Given the description of an element on the screen output the (x, y) to click on. 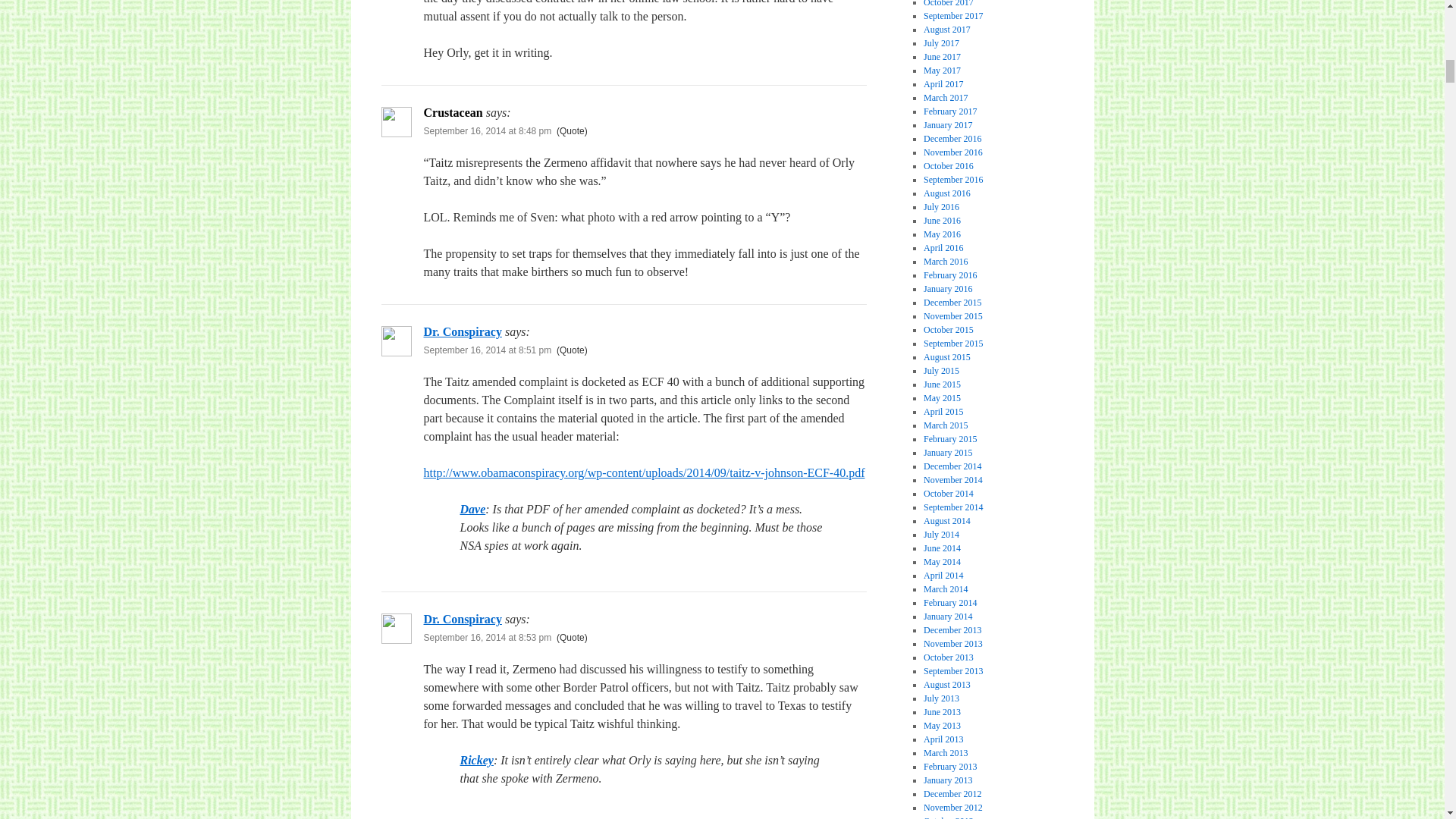
Click here or select text to quote comment (572, 637)
Click here or select text to quote comment (572, 131)
Click here or select text to quote comment (572, 349)
